Given the description of an element on the screen output the (x, y) to click on. 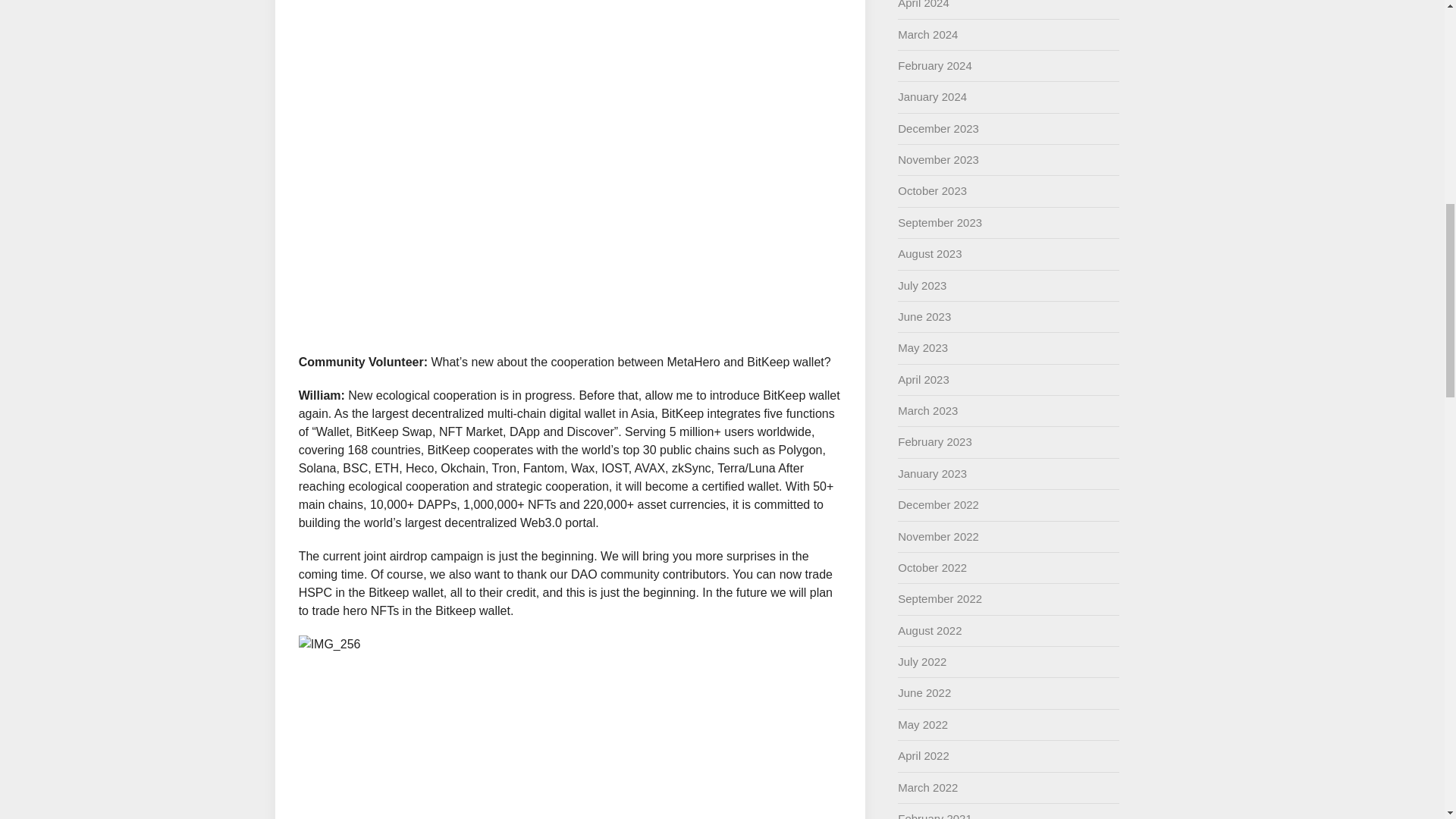
November 2022 (938, 535)
June 2023 (924, 316)
July 2022 (922, 661)
October 2023 (932, 190)
February 2024 (935, 65)
December 2022 (938, 504)
December 2023 (938, 128)
November 2023 (938, 159)
April 2024 (923, 4)
July 2023 (922, 285)
August 2023 (929, 253)
September 2022 (939, 598)
April 2023 (923, 379)
March 2023 (928, 410)
February 2023 (935, 440)
